Given the description of an element on the screen output the (x, y) to click on. 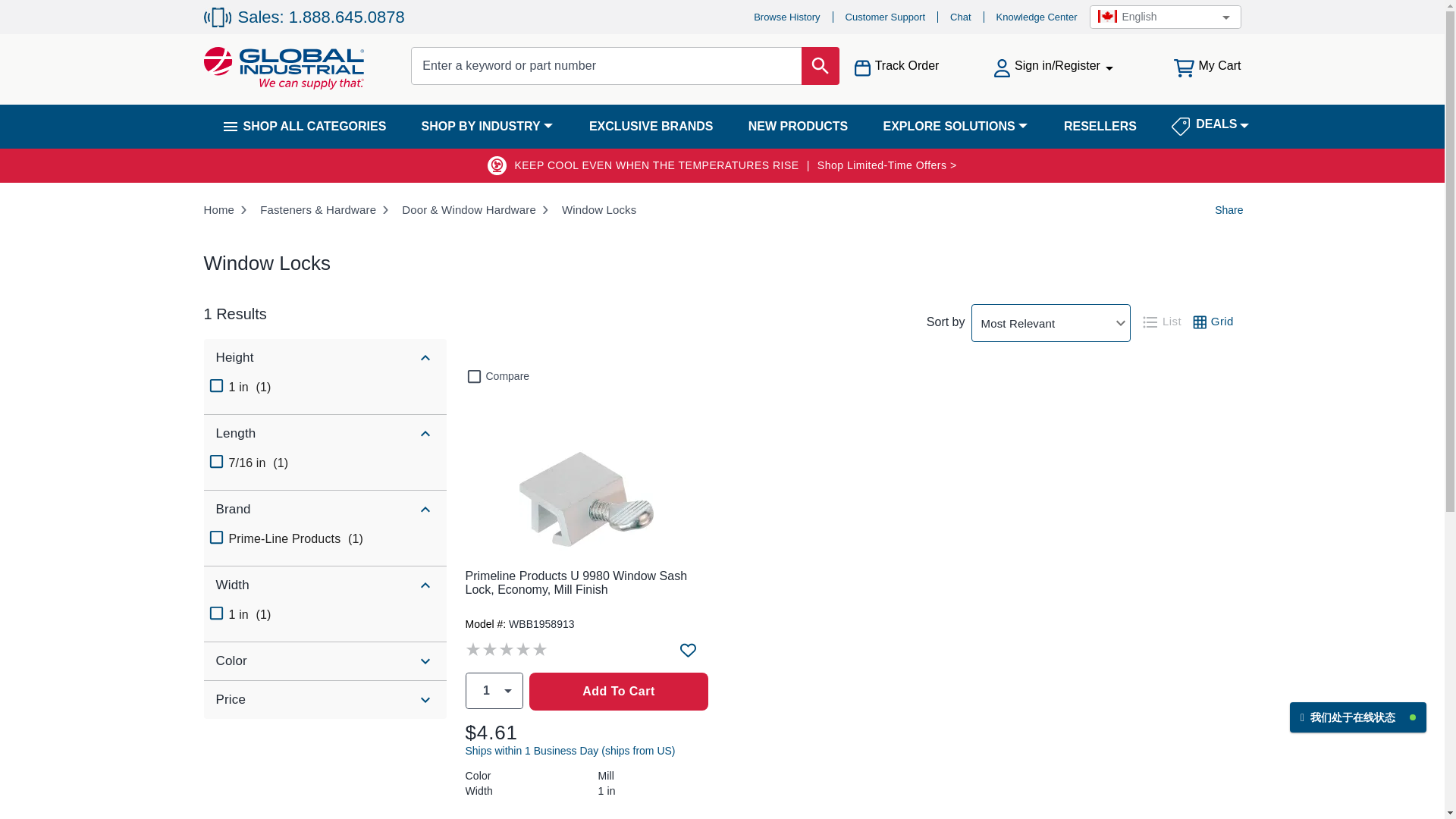
Customer Chat (1358, 707)
KEEP COOL EVEN WHEN THE TEMPERATURES RISE (642, 165)
List (1163, 321)
Browse History (786, 16)
NEW PRODUCTS (798, 125)
Window Locks (599, 209)
Home (218, 209)
Customer Support (885, 16)
Add To Cart (619, 691)
RESELLERS (1100, 125)
Chat (960, 16)
Grid (1214, 321)
Knowledge Center (1036, 16)
EXCLUSIVE BRANDS (651, 125)
